Given the description of an element on the screen output the (x, y) to click on. 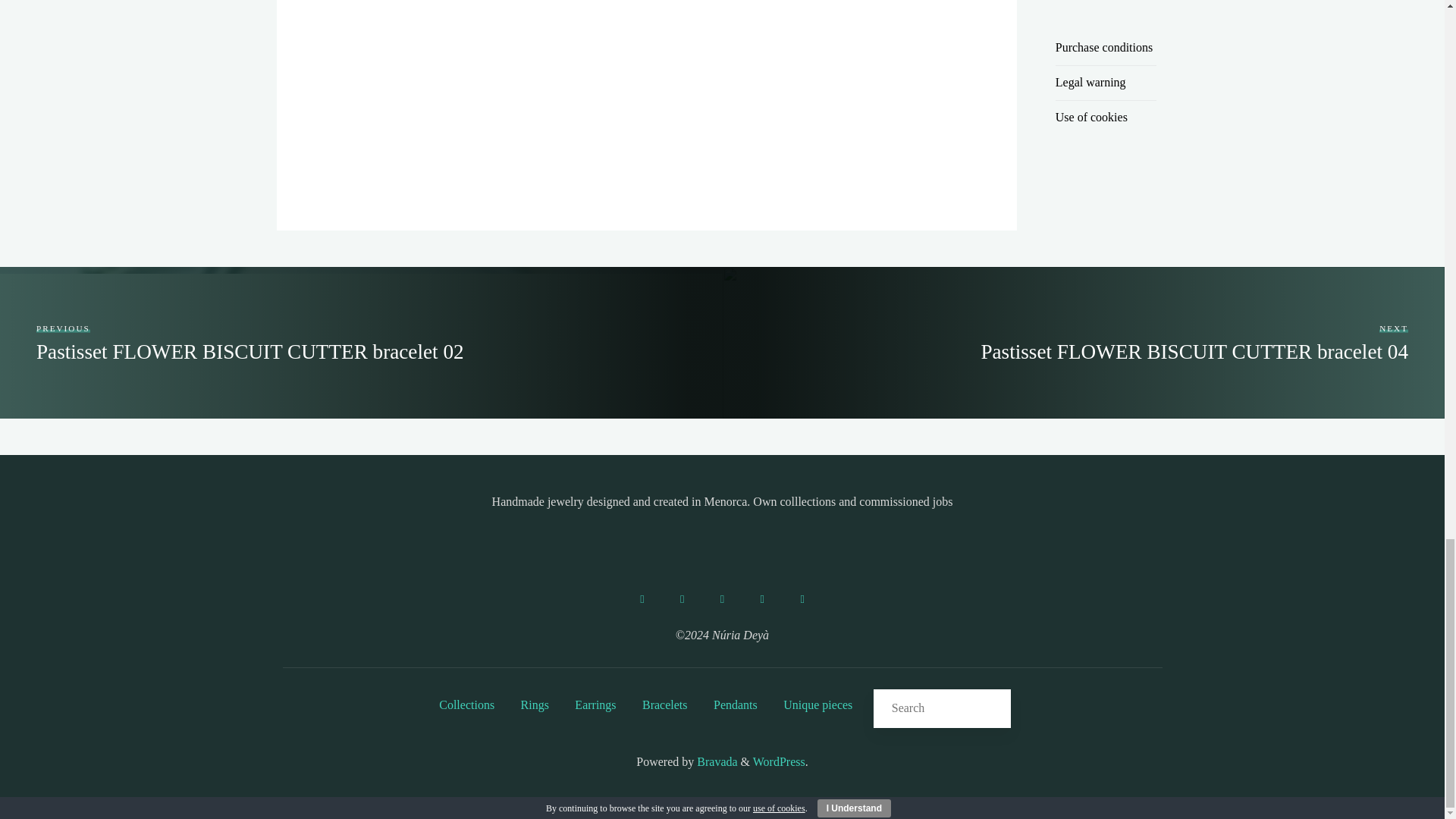
Youtube (801, 598)
Pinterest (762, 598)
Semantic Personal Publishing Platform (778, 761)
Facebook (641, 598)
Bravada WordPress Theme by Cryout Creations (715, 761)
Instagram (682, 598)
Twitter (721, 598)
